Given the description of an element on the screen output the (x, y) to click on. 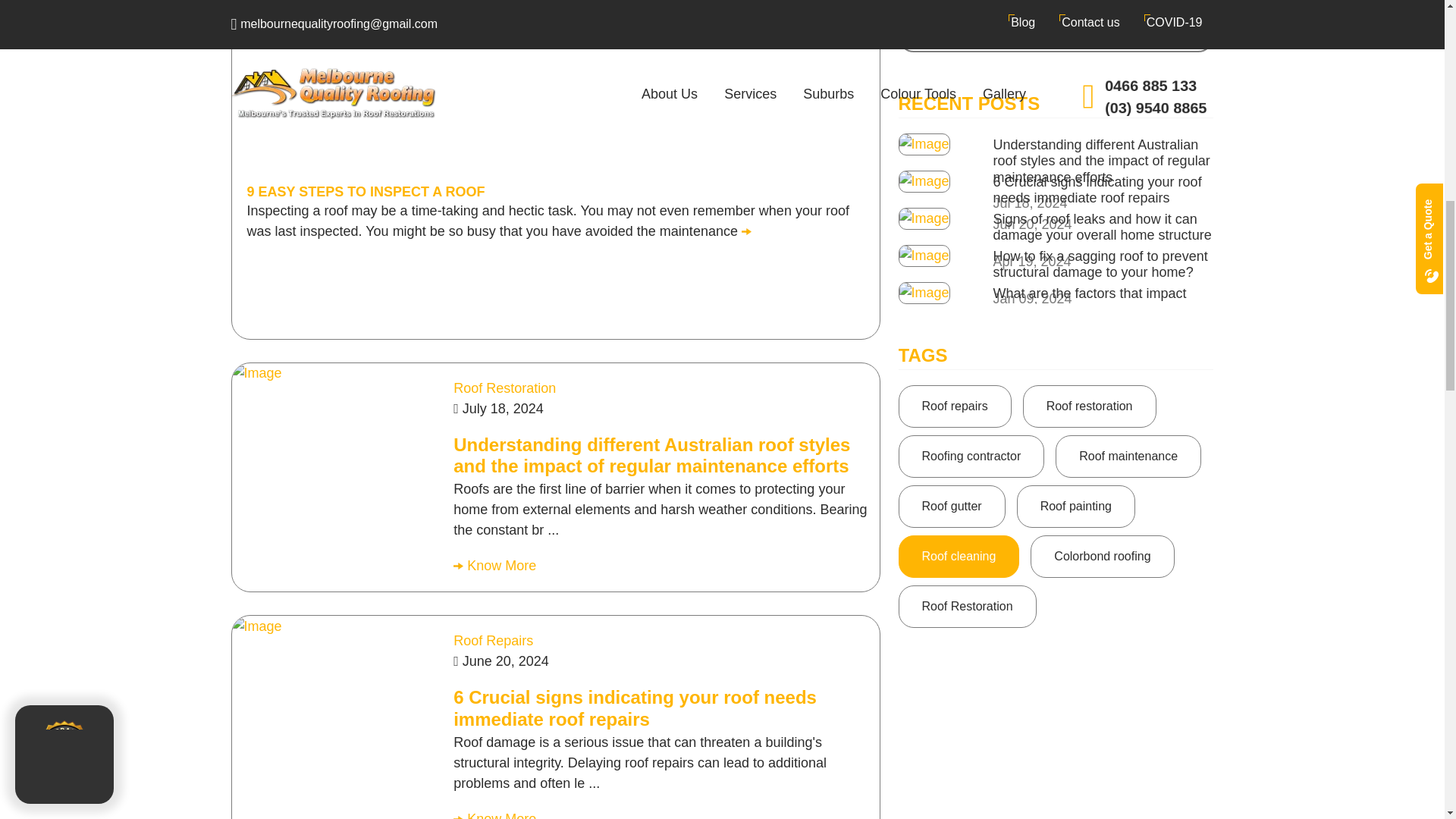
Roof Repairs (492, 640)
Roof Restoration (504, 387)
